Given the description of an element on the screen output the (x, y) to click on. 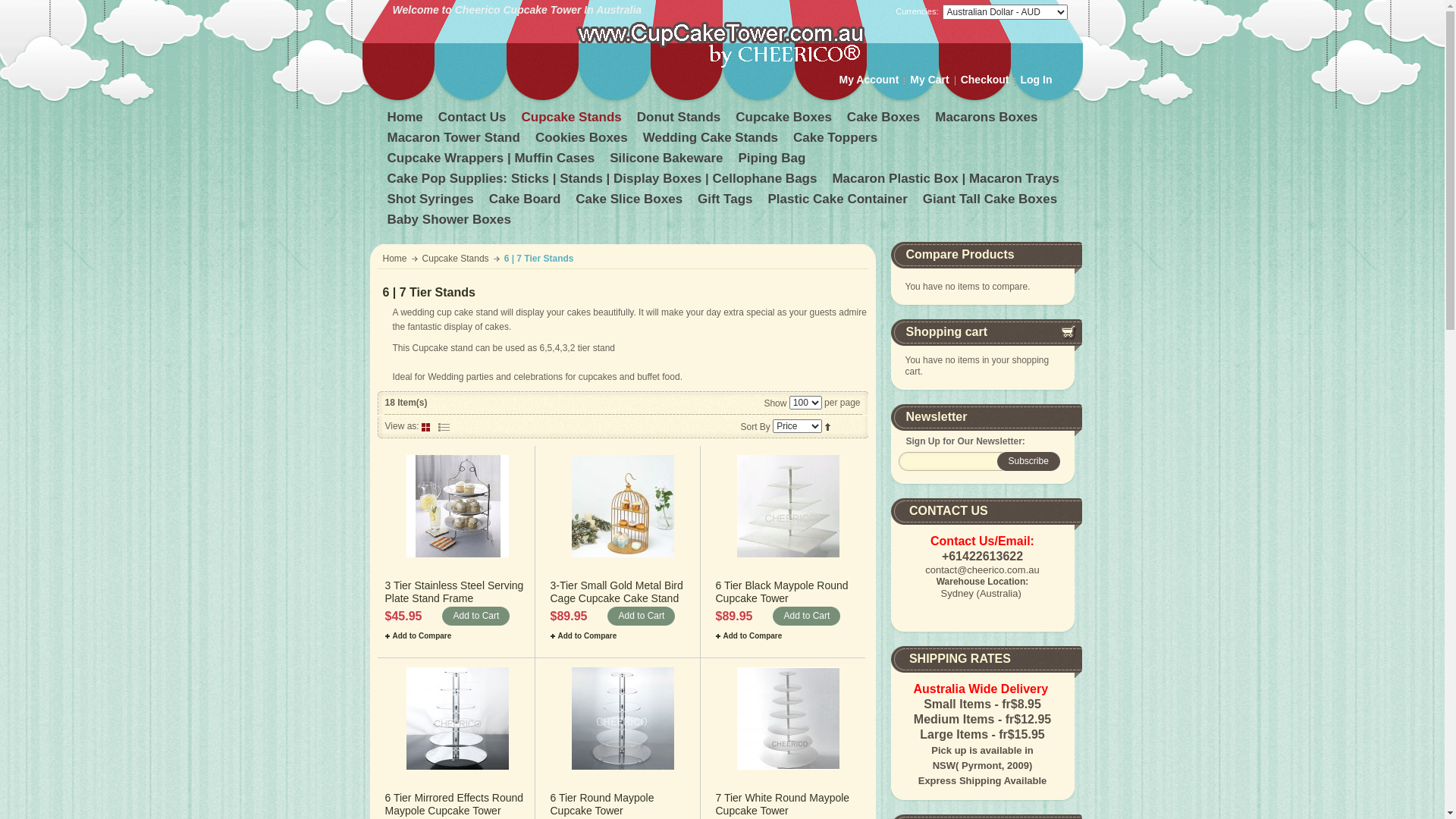
Macarons Boxes Element type: text (987, 119)
My Account Element type: text (869, 79)
Macaron Tower Stand Element type: text (454, 139)
Contact Us Element type: text (473, 119)
Home Element type: text (394, 258)
Silicone Bakeware Element type: text (667, 160)
Cake Board Element type: text (526, 201)
Shot Syringes Element type: text (431, 201)
Grid Element type: hover (427, 425)
7 Tier White Round Maypole Cupcake Tower Element type: text (782, 803)
Wedding Cake Stands Element type: text (712, 139)
Cupcake Stands Element type: text (456, 258)
Cupcake Wrappers | Muffin Cases Element type: text (491, 160)
Gift Tags Element type: text (726, 201)
Checkout Element type: text (984, 79)
Sign up for our newsletter Element type: hover (954, 460)
Cake Boxes Element type: text (884, 119)
Piping Bag Element type: text (773, 160)
3 Tier Stainless Steel Serving Plate Stand Frame Element type: text (454, 591)
Add to Compare Element type: text (583, 635)
Plastic Cake Container Element type: text (839, 201)
Set Descending Direction Element type: hover (827, 425)
Cupcake Boxes Element type: text (784, 119)
List Element type: hover (443, 425)
Giant Tall Cake Boxes Element type: text (991, 201)
My Cart Element type: text (929, 79)
Add to Cart Element type: text (641, 615)
Subscribe Element type: text (1027, 460)
6 Tier Cupcake Tower Mirror Effects Element type: hover (457, 718)
3 Tier Stainless Steel Serving Plate Stand Frame Element type: hover (457, 506)
6 Tier Round Maypole Cupcake Tower Element type: hover (623, 718)
Macaron Plastic Box | Macaron Trays Element type: text (946, 180)
Baby Shower Boxes Element type: text (449, 221)
Cookies Boxes Element type: text (583, 139)
Add to Cart Element type: text (476, 615)
3-Tier Small Gold Metal Bird Cage Cupcake Cake Stand Element type: text (616, 591)
7 Tier White Round Maypole Cupcake Tower Element type: hover (788, 718)
Add to Compare Element type: text (418, 635)
Log In Element type: text (1036, 79)
6 Tier Black Maypole Round Cupcake Tower Element type: text (781, 591)
Donut Stands Element type: text (680, 119)
6 Tier Mirrored Effects Round Maypole Cupcake Tower Element type: text (454, 803)
6 Tier Round Maypole Cupcake Tower Element type: text (602, 803)
Add to Cart Element type: text (806, 615)
3-Tier Small Gold Metal Bird Cage Cupcake Cake Stand Element type: hover (623, 506)
Cake Slice Boxes Element type: text (630, 201)
Add to Compare Element type: text (748, 635)
  Element type: text (443, 425)
Cake Toppers Element type: text (836, 139)
6 Tier Black Maypole Round Cupcake Tower Element type: hover (788, 506)
Cupcake Stands Element type: text (572, 119)
Home Element type: text (405, 119)
